Given the description of an element on the screen output the (x, y) to click on. 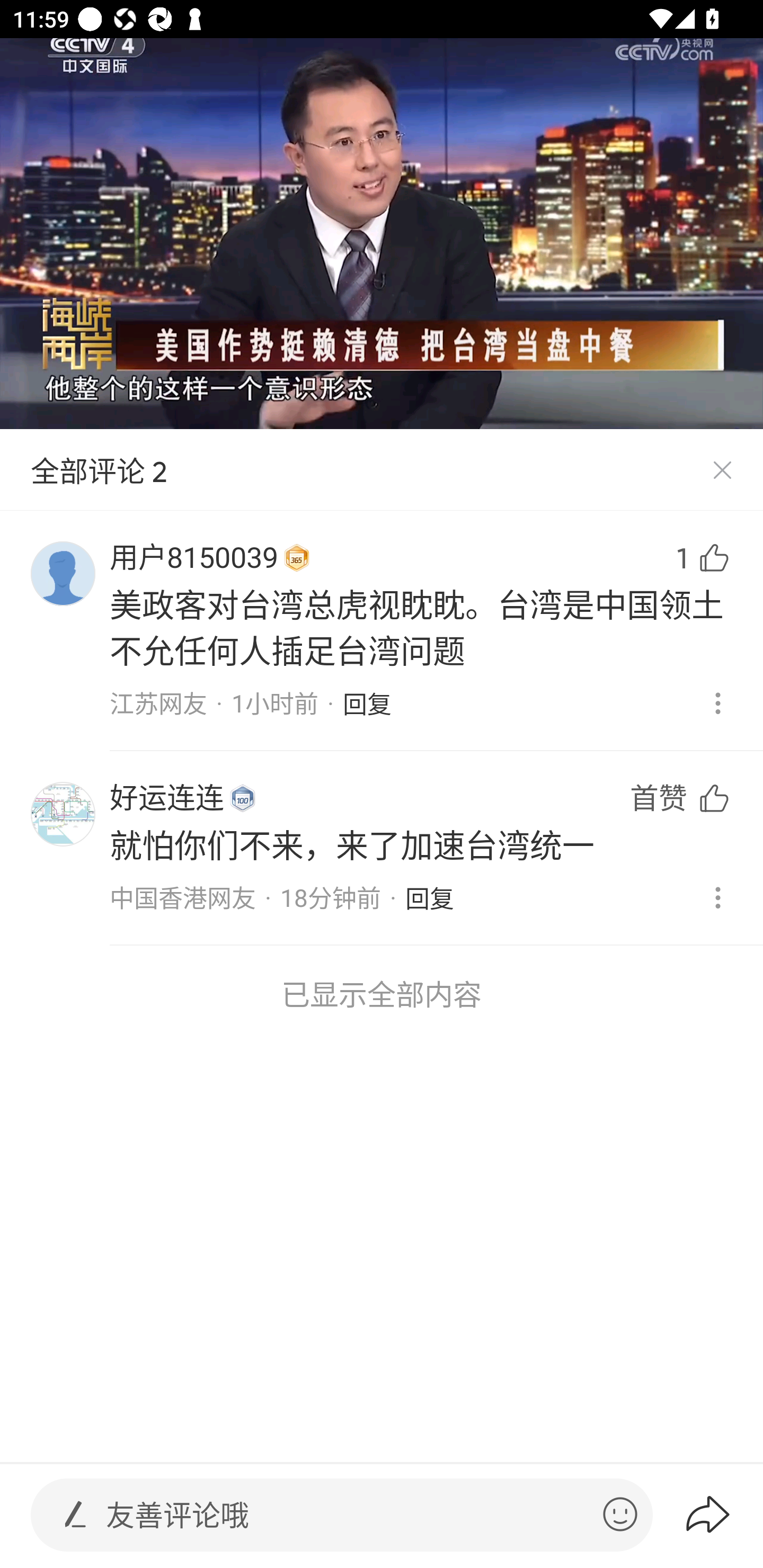
全部评论 2 关闭 (381, 470)
关闭 (722, 470)
UserRightLabel_OneMedalView 勋章 (296, 558)
UserRightLabel_OneMedalView 勋章 (242, 798)
已显示全部内容 (381, 993)
已显示全部内容 (381, 993)
友善评论哦 发表评论 (346, 1515)
 分享 (723, 1514)
 (75, 1514)
 (619, 1514)
